Given the description of an element on the screen output the (x, y) to click on. 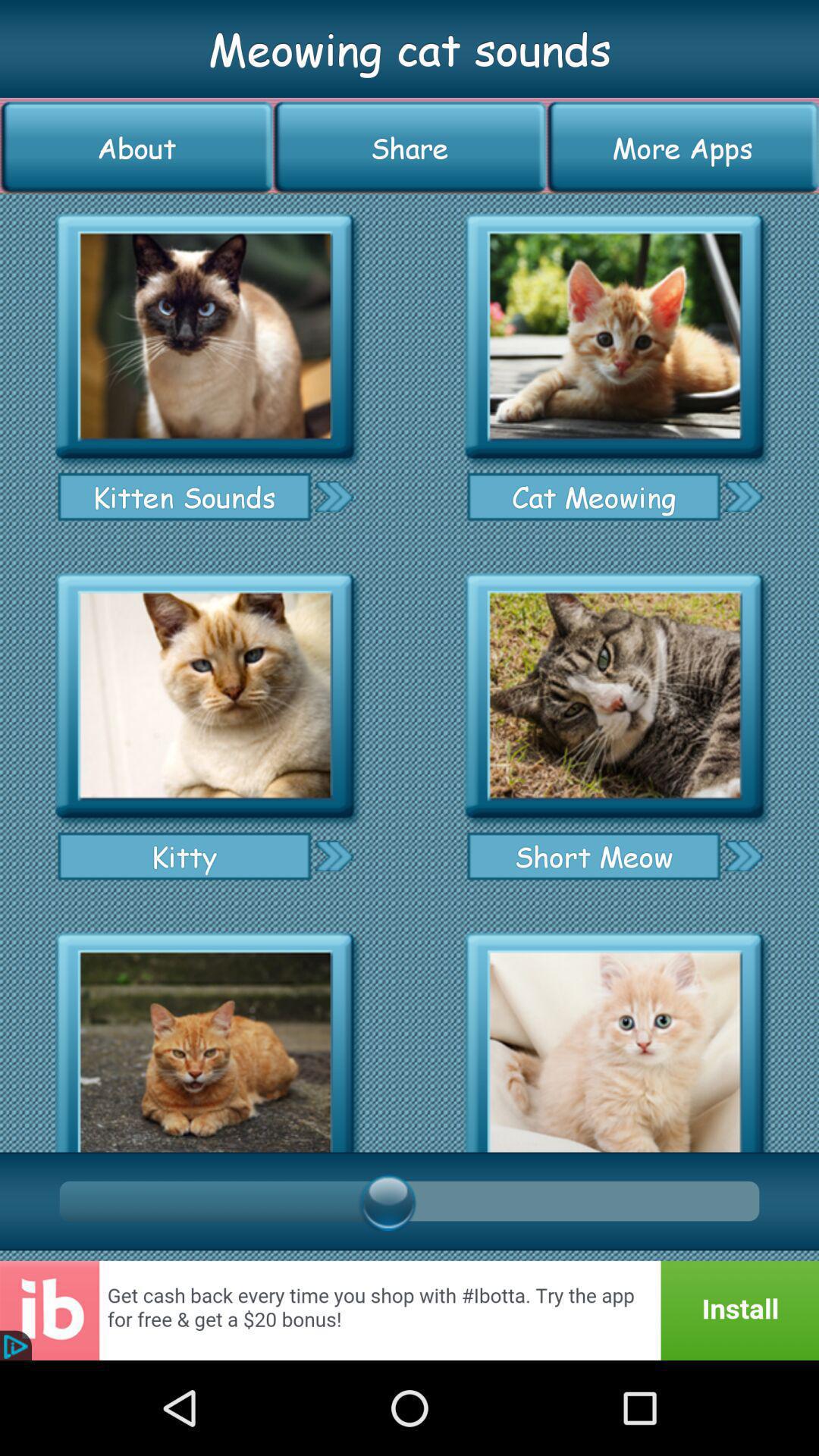
cat meowing (743, 496)
